Given the description of an element on the screen output the (x, y) to click on. 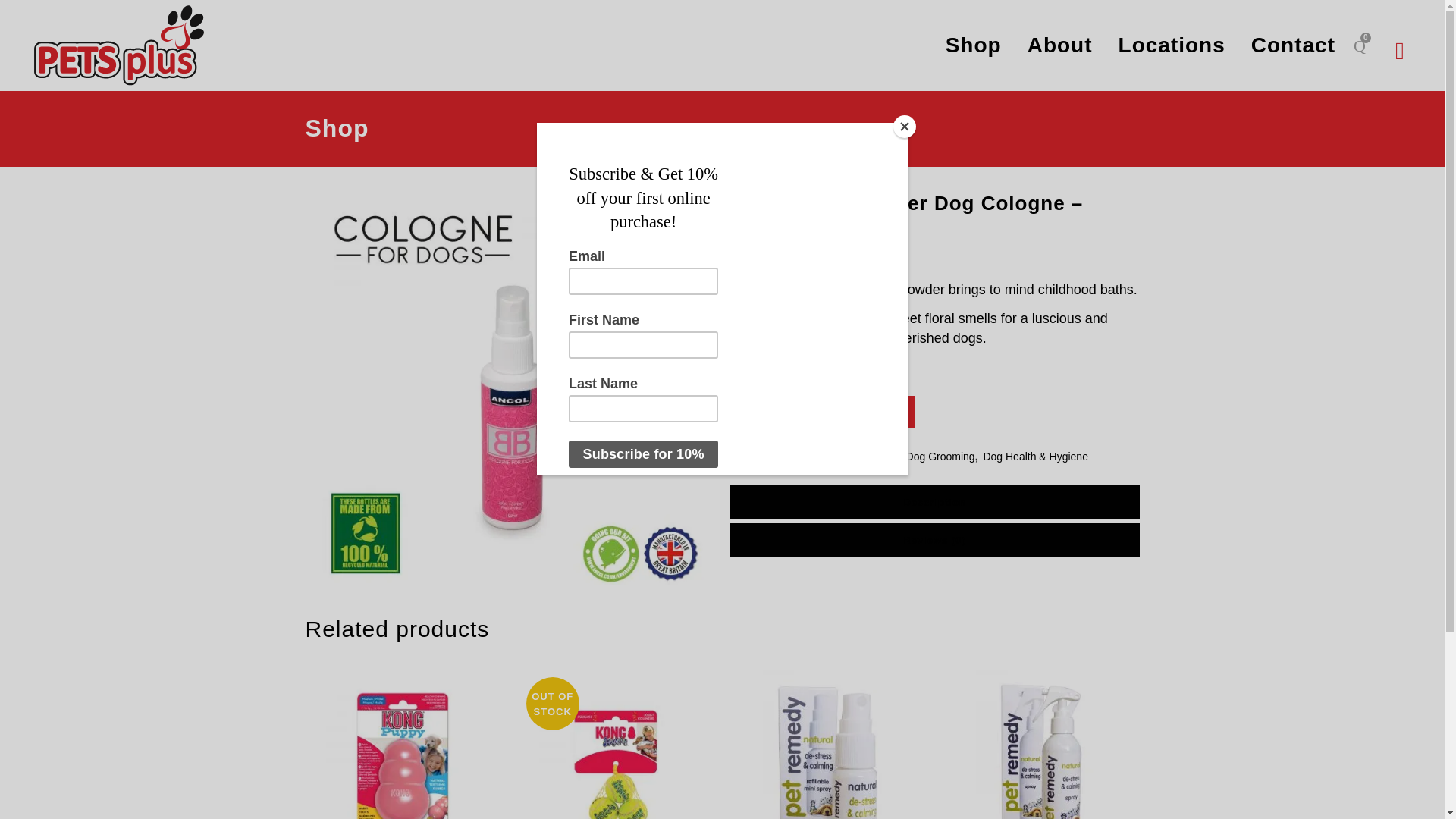
- (736, 413)
Shop (973, 45)
1 (758, 412)
Qty (758, 412)
